Given the description of an element on the screen output the (x, y) to click on. 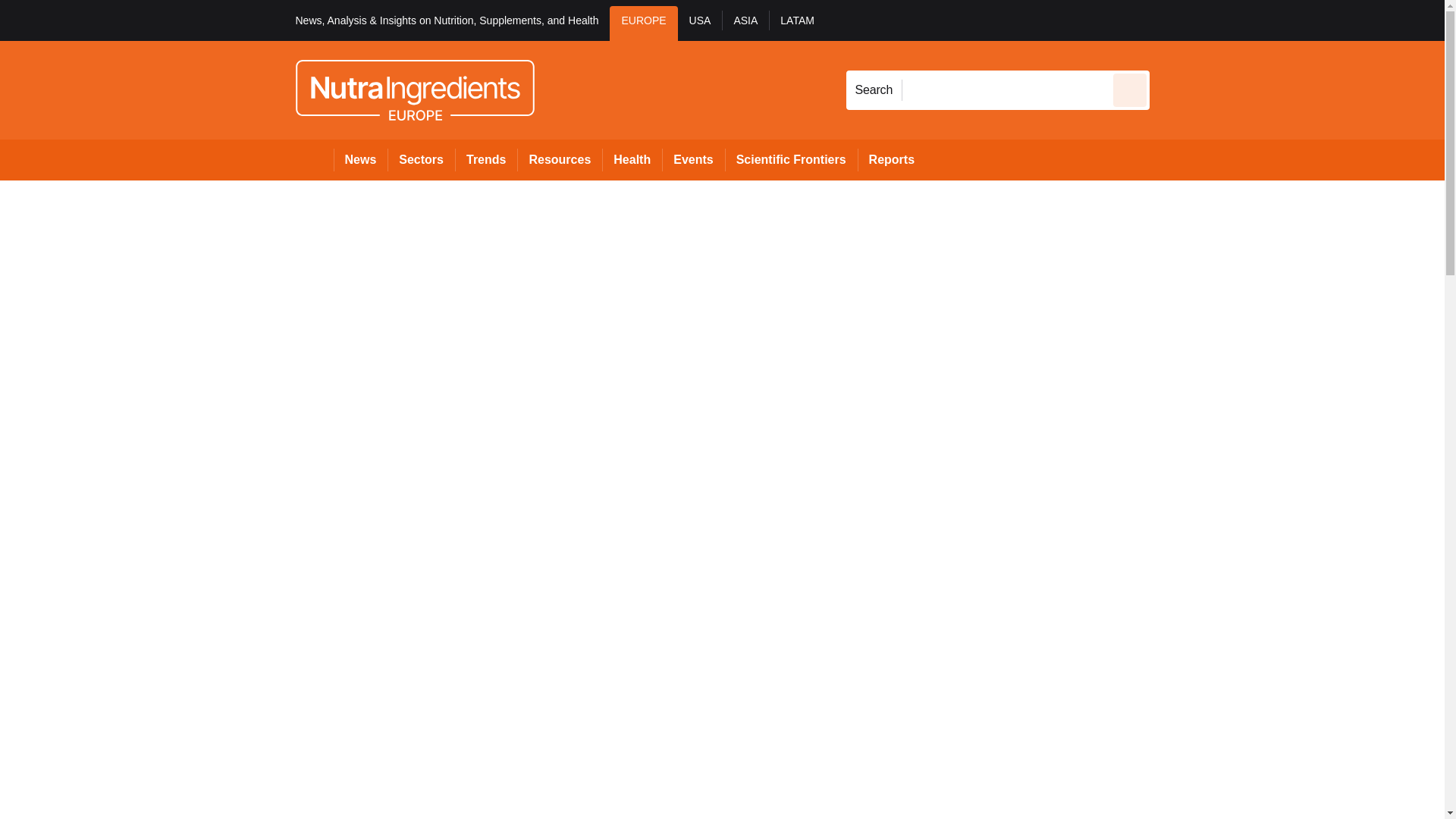
Register (1231, 20)
LATAM (796, 22)
Sign out (1174, 20)
Sign in (1171, 20)
SUBSCRIBE (1318, 20)
Home (314, 159)
EUROPE (643, 22)
Send (1129, 89)
News (360, 159)
SUBSCRIBE (1362, 20)
